Given the description of an element on the screen output the (x, y) to click on. 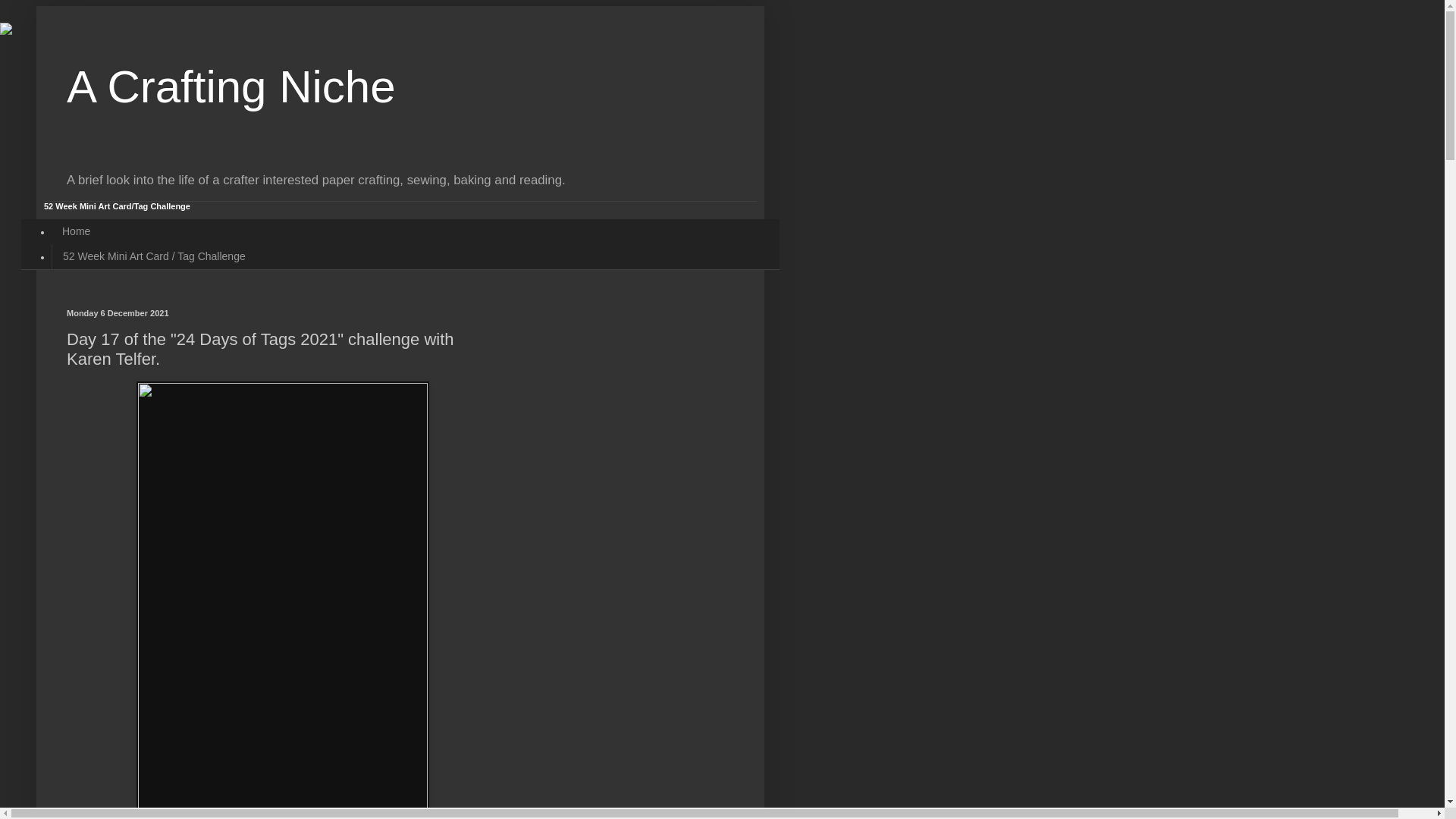
Home (75, 231)
A Crafting Niche (231, 86)
